Given the description of an element on the screen output the (x, y) to click on. 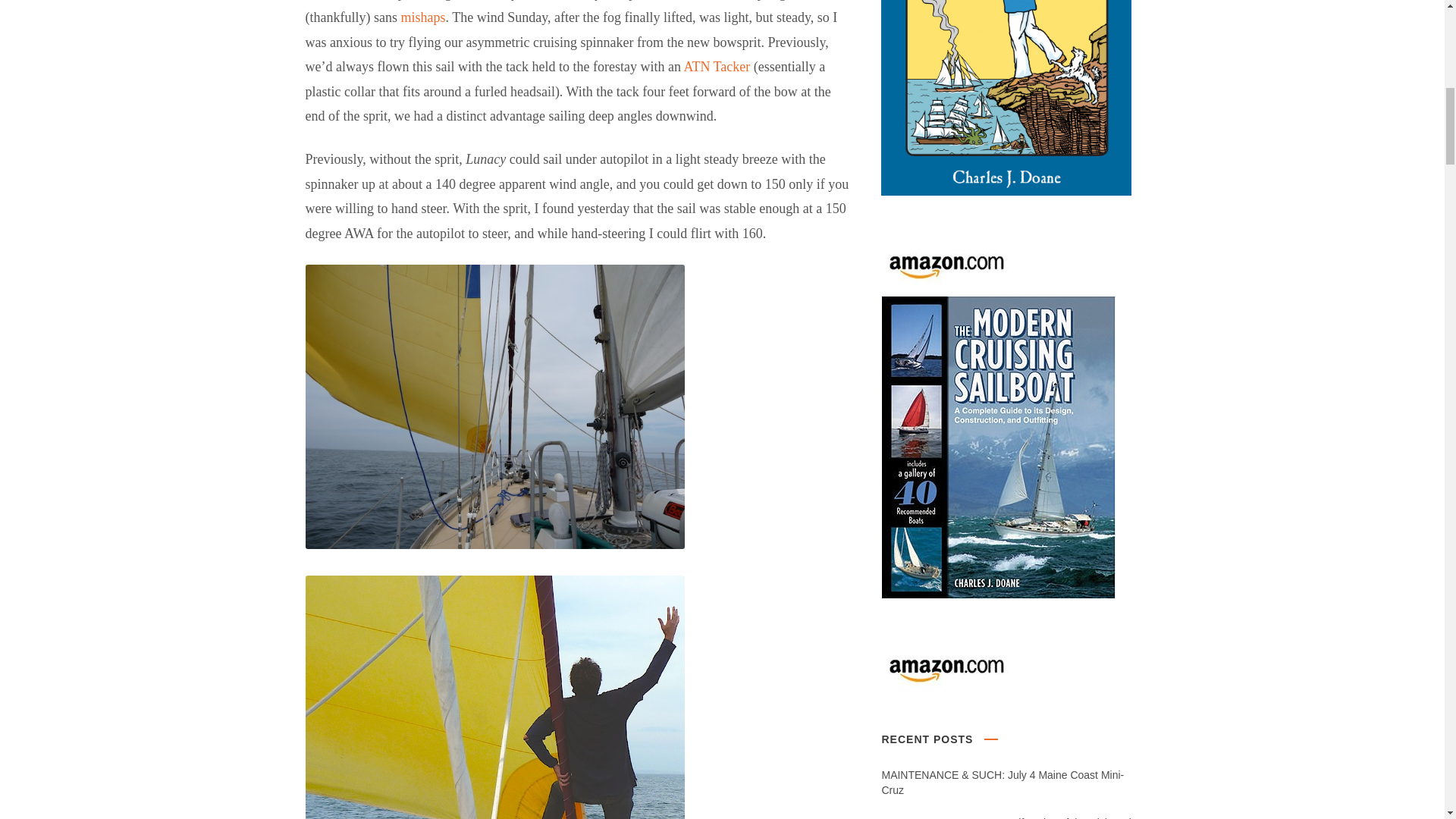
mishaps (422, 17)
ATN Tacker web page (715, 66)
WaveTrain link (422, 17)
ATN Tacker (715, 66)
